Given the description of an element on the screen output the (x, y) to click on. 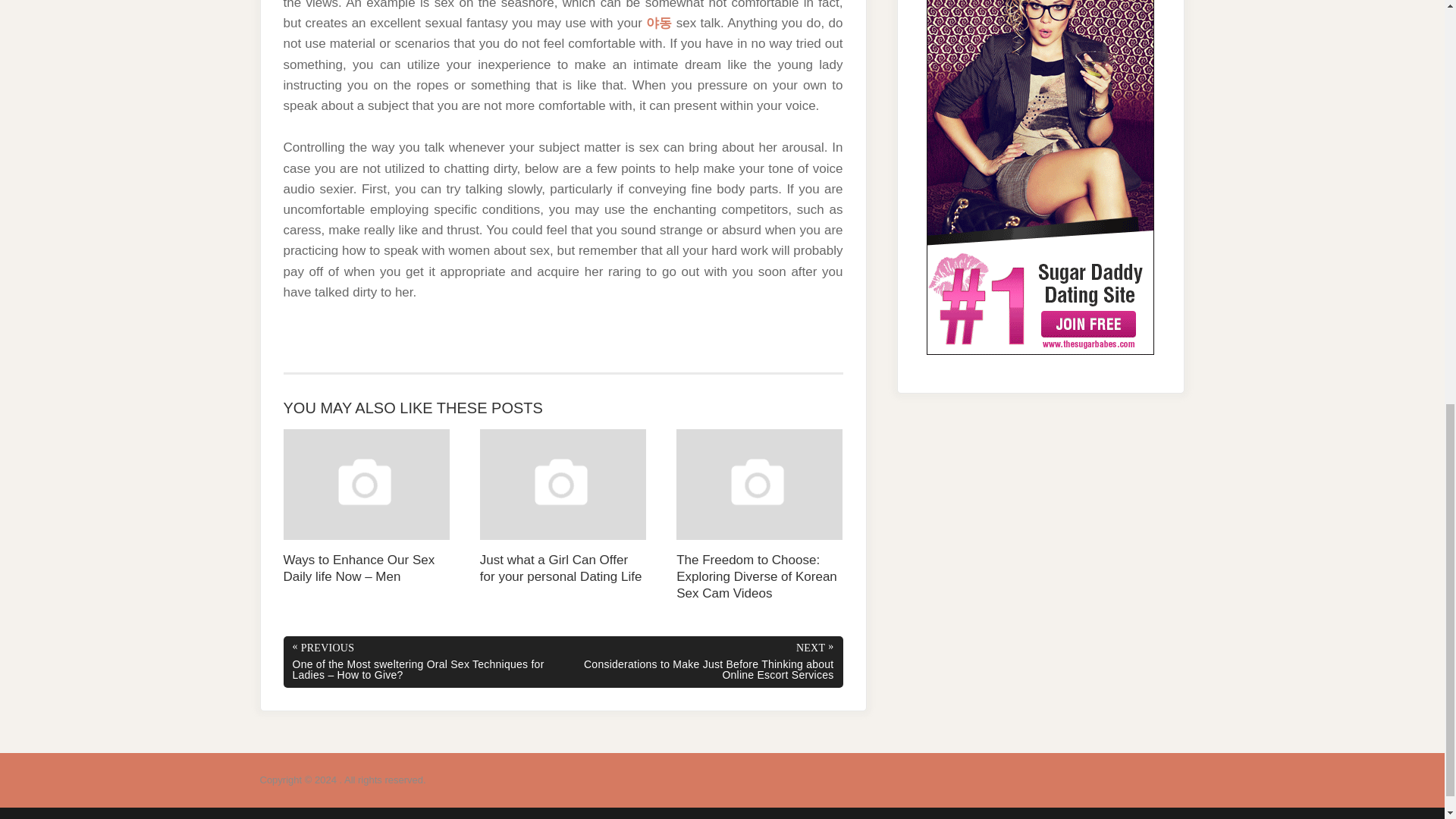
Just what a Girl Can Offer for your personal Dating Life (563, 507)
Just what a Girl Can Offer for your personal Dating Life (563, 507)
